Given the description of an element on the screen output the (x, y) to click on. 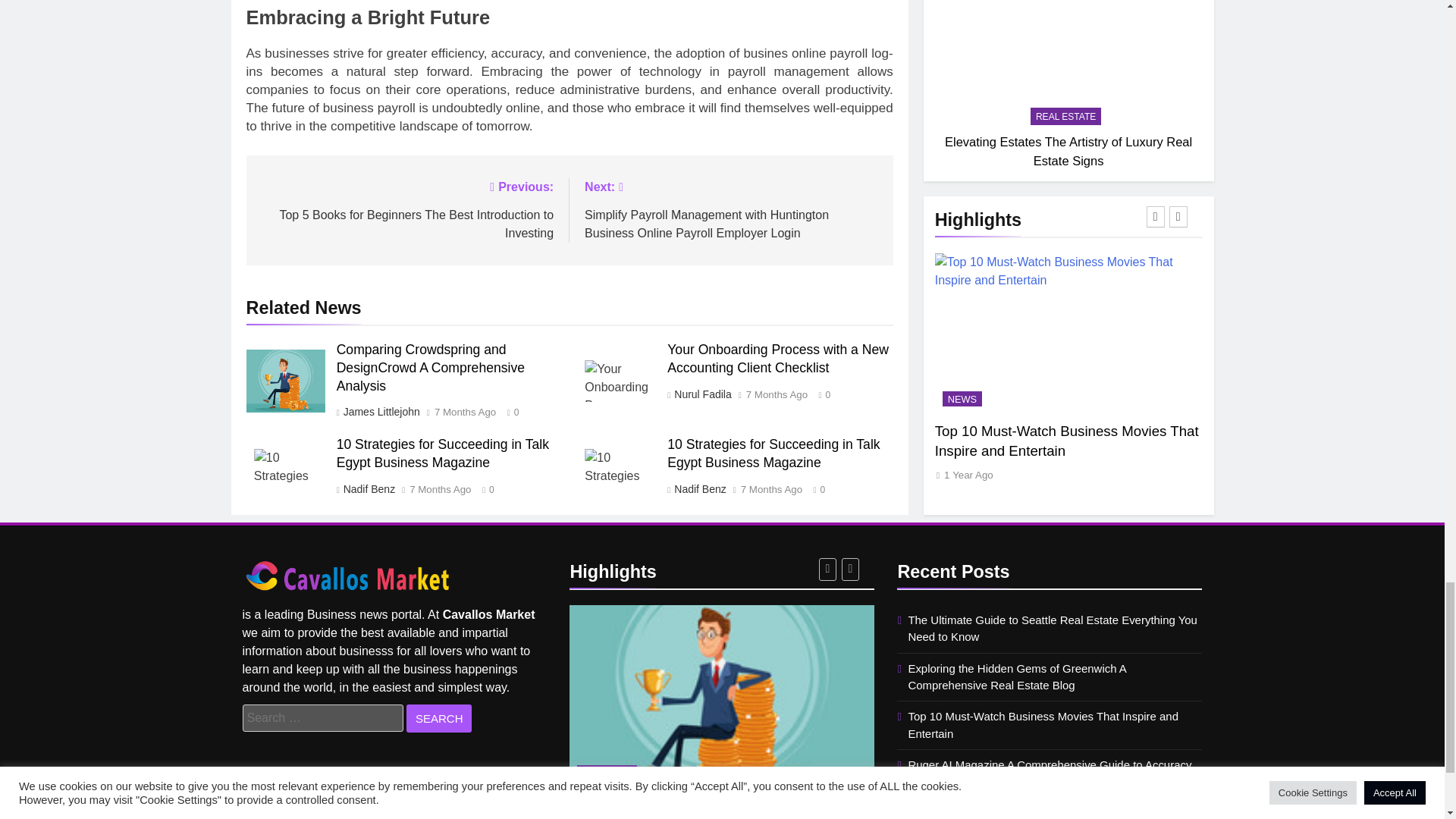
10 Strategies for Succeeding in Talk Egypt Business Magazine (285, 467)
Search (438, 718)
10 Strategies for Succeeding in Talk Egypt Business Magazine (616, 467)
Search (438, 718)
